Given the description of an element on the screen output the (x, y) to click on. 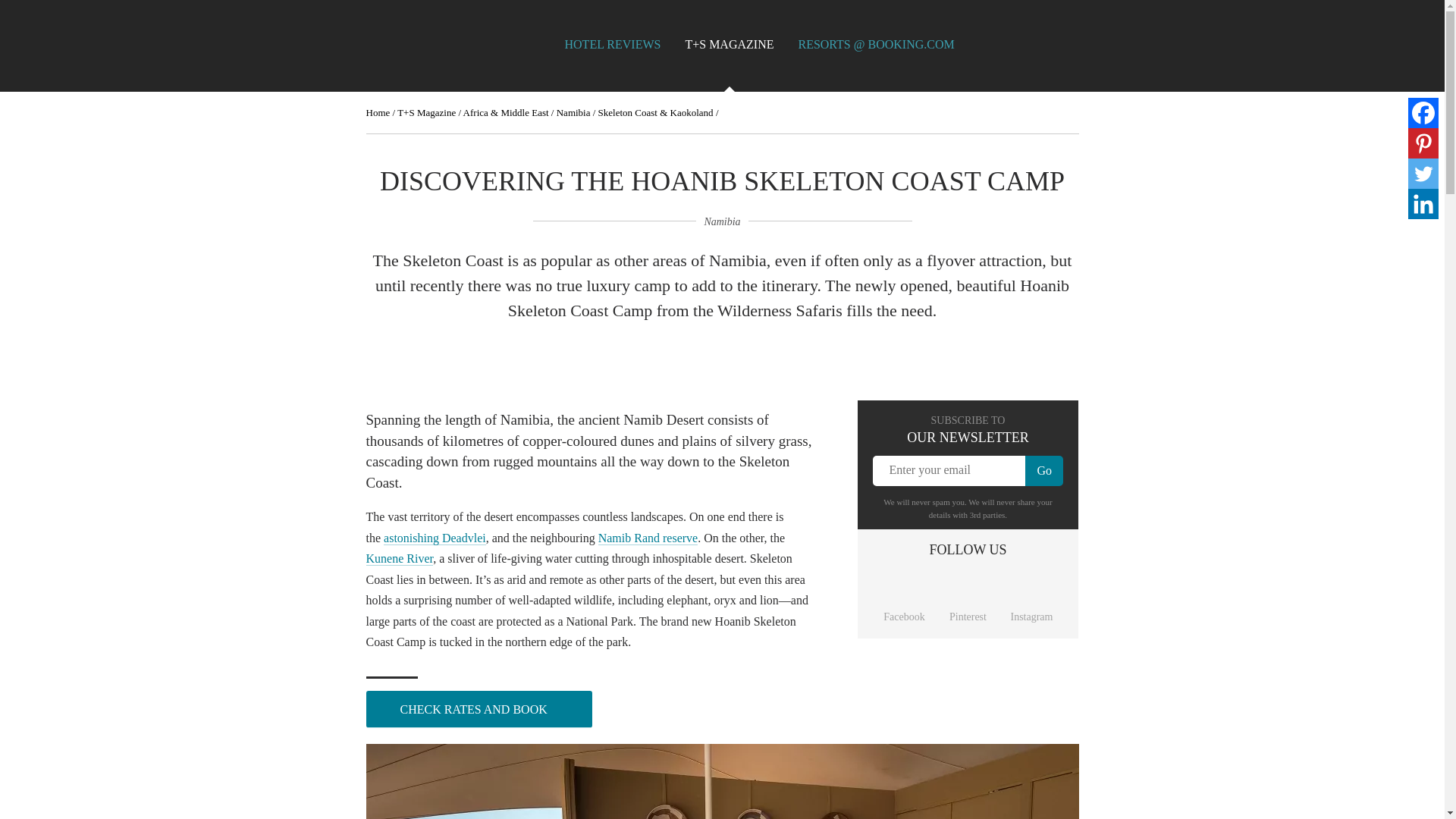
Namib Rand (648, 537)
The last Himba (398, 558)
Go (1043, 470)
Hoanib Skeleton Coast Camp, Namibia. TravelPlusStyle.com (721, 780)
HOTEL REVIEWS (612, 43)
